Given the description of an element on the screen output the (x, y) to click on. 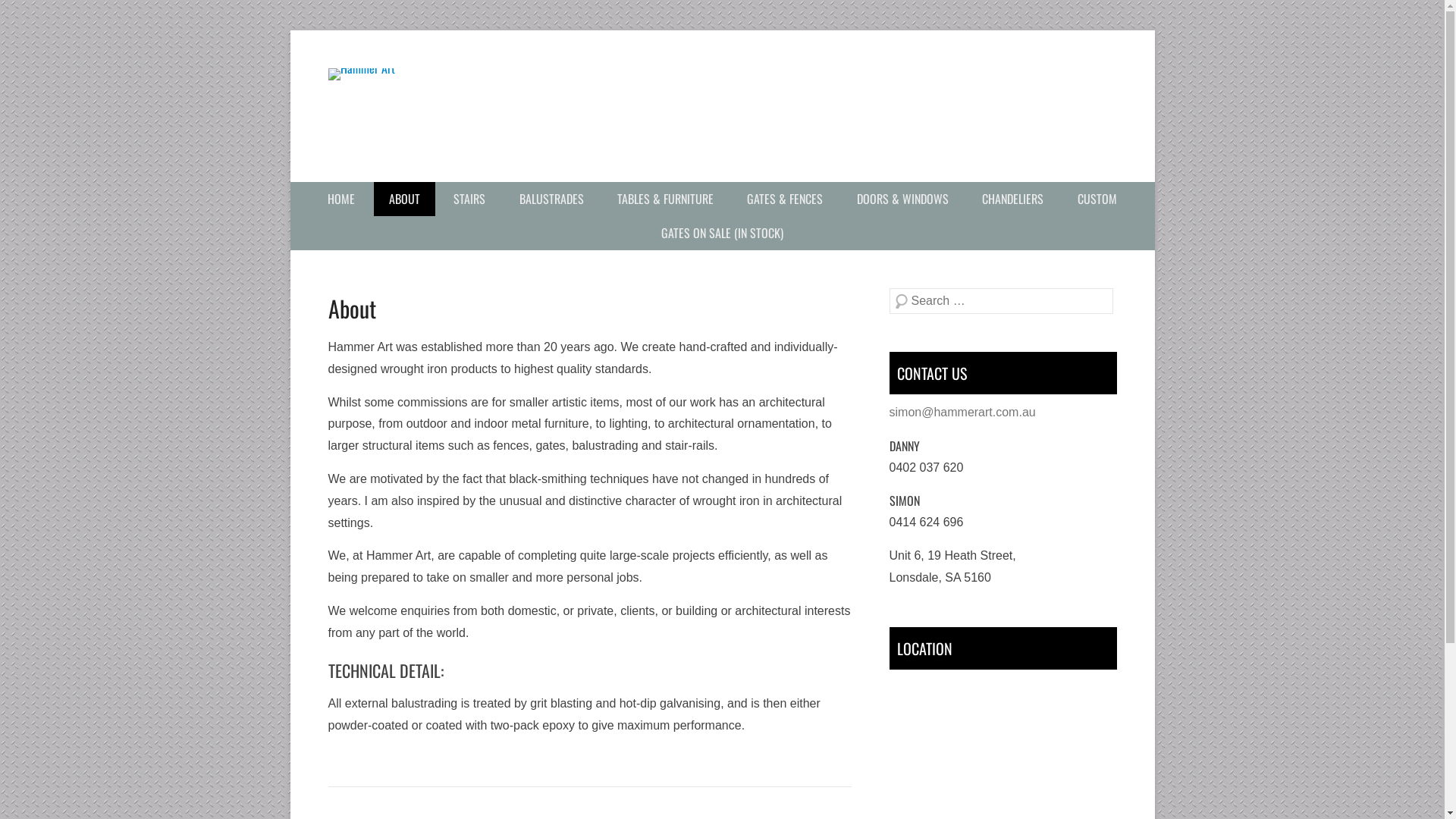
Email Element type: text (1104, 80)
simon@hammerart.com.au Element type: text (961, 411)
Facebook Element type: text (1038, 80)
STAIRS Element type: text (469, 199)
Google+ Element type: text (1070, 80)
CUSTOM Element type: text (1097, 199)
Hammer Art  Element type: hover (570, 106)
Hammer Art Element type: text (434, 170)
CHANDELIERS Element type: text (1012, 199)
TABLES & FURNITURE Element type: text (665, 199)
ABOUT Element type: text (404, 199)
GATES ON SALE (IN STOCK) Element type: text (722, 233)
BALUSTRADES Element type: text (551, 199)
DOORS & WINDOWS Element type: text (902, 199)
HOME Element type: text (341, 199)
Search Element type: text (32, 15)
About Element type: text (351, 308)
GATES & FENCES Element type: text (784, 199)
Skip to content Element type: text (329, 191)
